Given the description of an element on the screen output the (x, y) to click on. 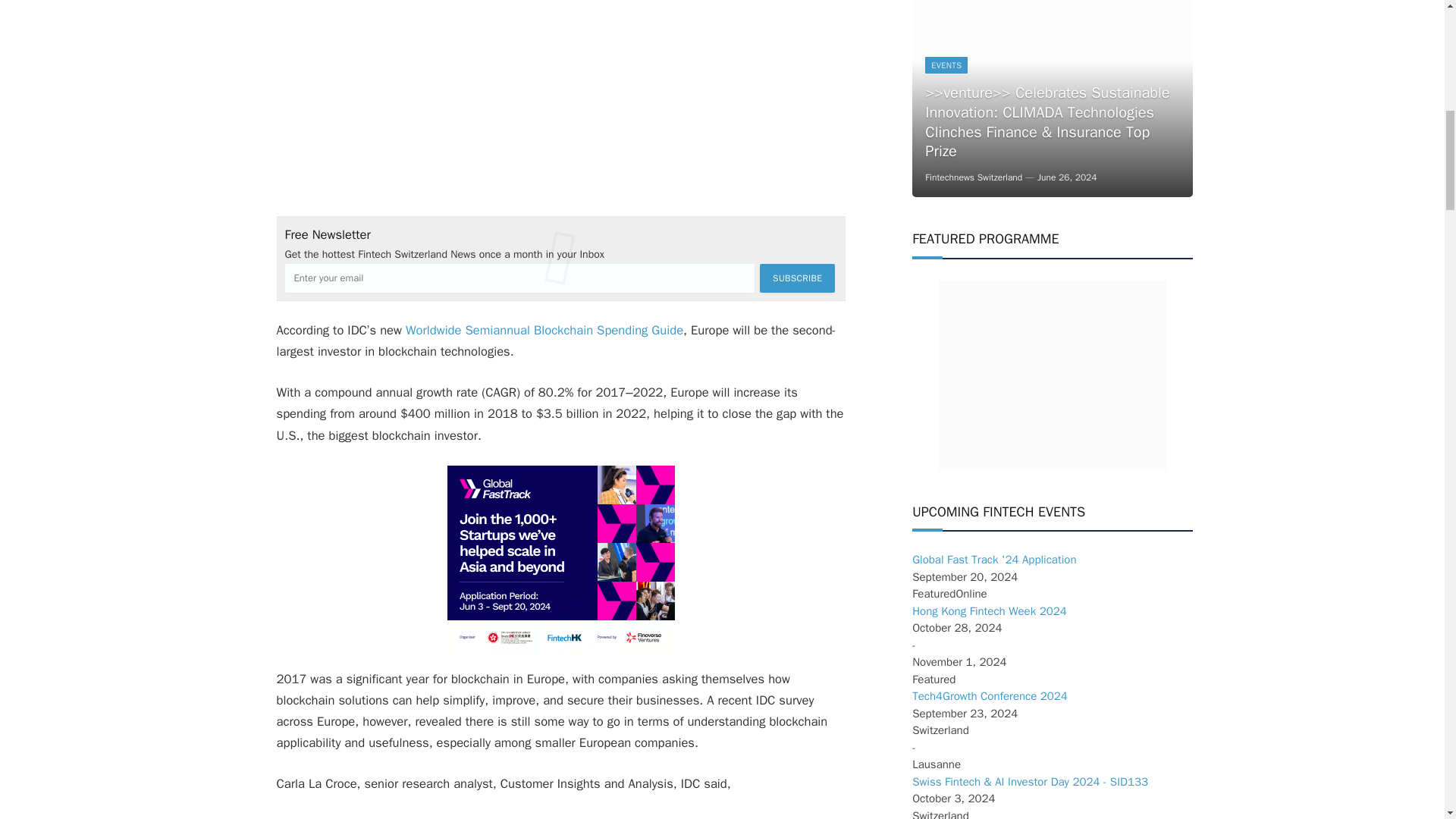
Subscribe (797, 277)
